Given the description of an element on the screen output the (x, y) to click on. 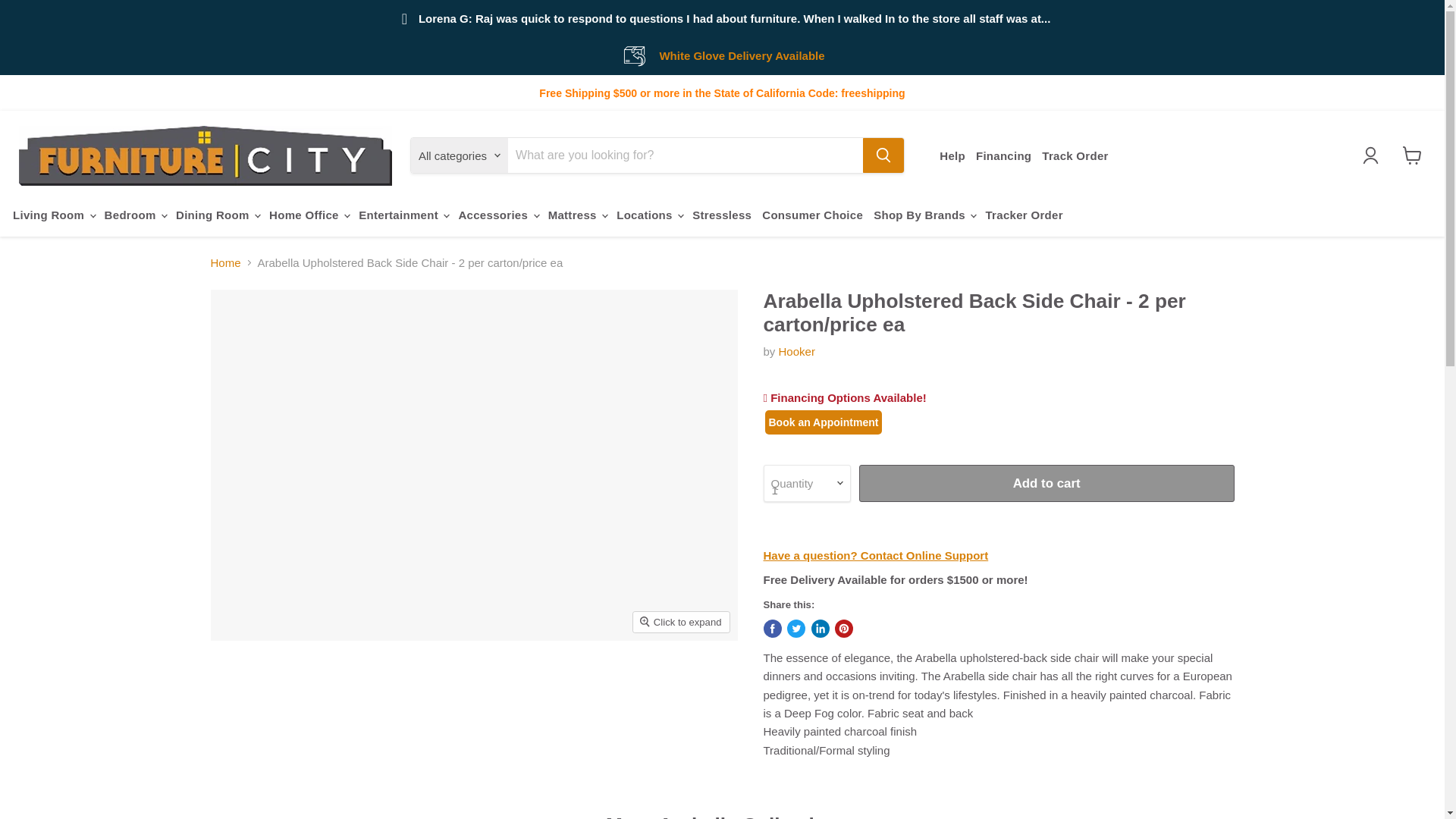
Track Order (1075, 155)
Help (952, 155)
Financing (1002, 155)
View cart (1411, 154)
Hooker (796, 350)
